Given the description of an element on the screen output the (x, y) to click on. 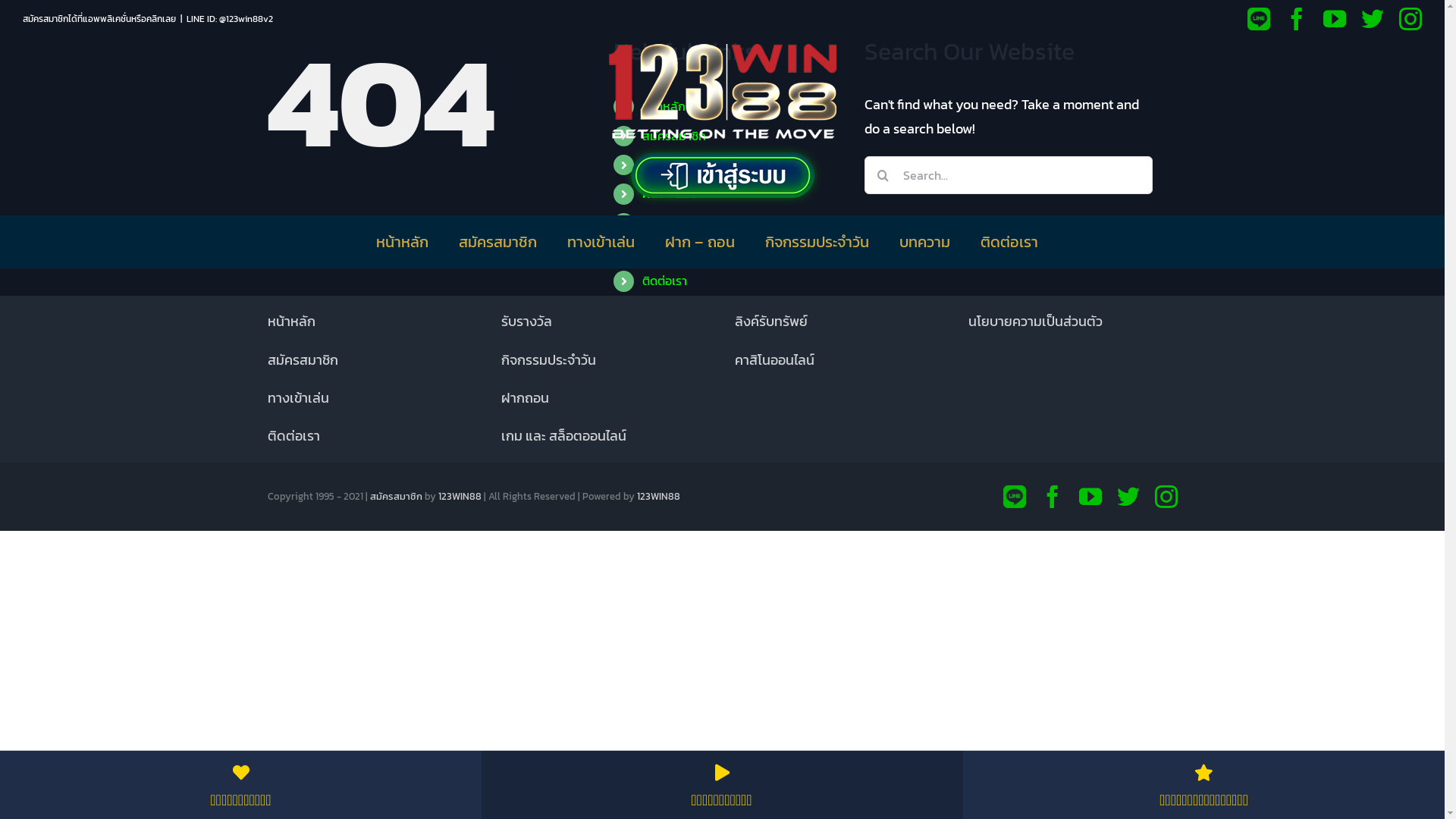
Line Element type: text (1258, 18)
YouTube Element type: text (1334, 18)
Twitter Element type: text (1372, 18)
123WIN88 Element type: text (459, 496)
Facebook Element type: text (1051, 496)
Twitter Element type: text (1127, 496)
LINE ID: @123win88v2 Element type: text (229, 18)
YouTube Element type: text (1089, 496)
Instagram Element type: text (1410, 18)
Facebook Element type: text (1296, 18)
123WIN88 Element type: text (658, 496)
Instagram Element type: text (1165, 496)
Line Element type: text (1013, 488)
